Given the description of an element on the screen output the (x, y) to click on. 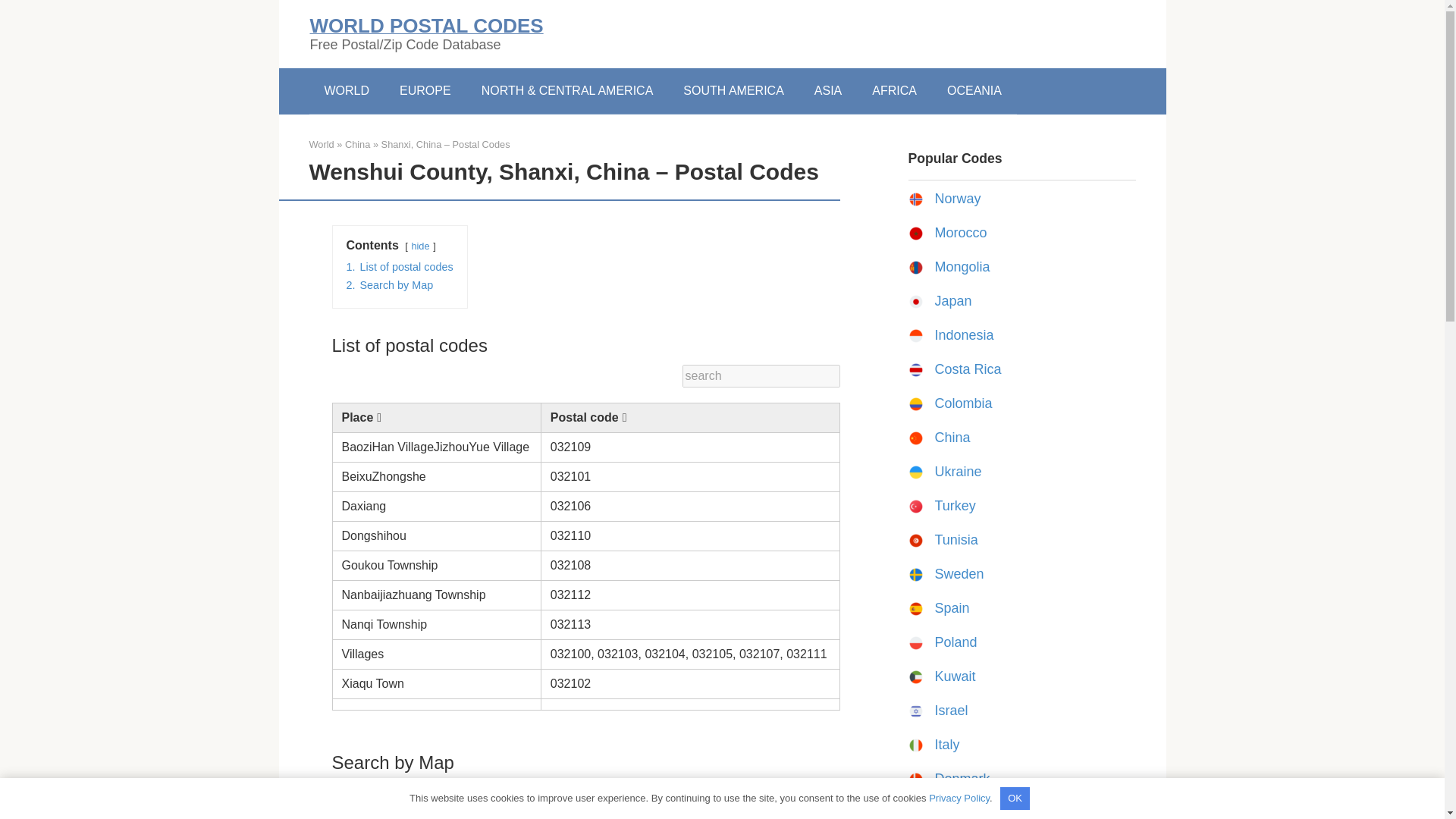
Ukraine (957, 471)
Colombia (962, 403)
Tunisia (955, 539)
Japan (952, 300)
Turkey (954, 505)
2. Search by Map (389, 285)
World (321, 143)
hide (419, 245)
ASIA (828, 90)
SOUTH AMERICA (732, 90)
